Given the description of an element on the screen output the (x, y) to click on. 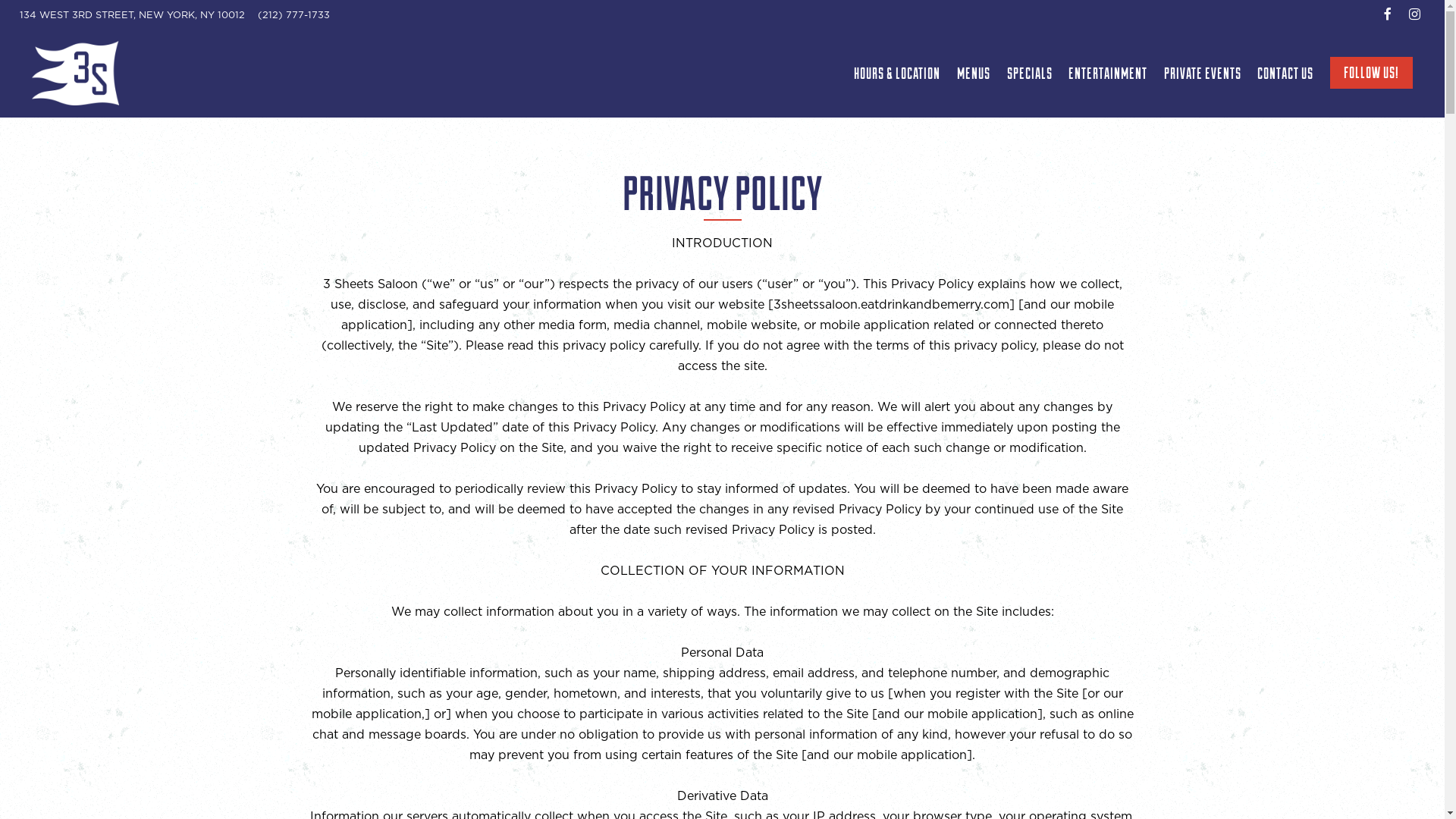
HOURS & LOCATION Element type: text (897, 73)
CONTACT US Element type: text (1285, 73)
FOLLOW US! Element type: text (1371, 72)
PRIVATE EVENTS Element type: text (1202, 73)
Follow us on Instagram Element type: text (1414, 14)
CALL 3 SHEETS BY PHONE AT
(212) 777-1733 Element type: text (293, 14)
Follow us on Facebook Element type: text (1387, 14)
SPECIALS Element type: text (1029, 73)
MENUS Element type: text (973, 73)
ENTERTAINMENT Element type: text (1107, 73)
